Given the description of an element on the screen output the (x, y) to click on. 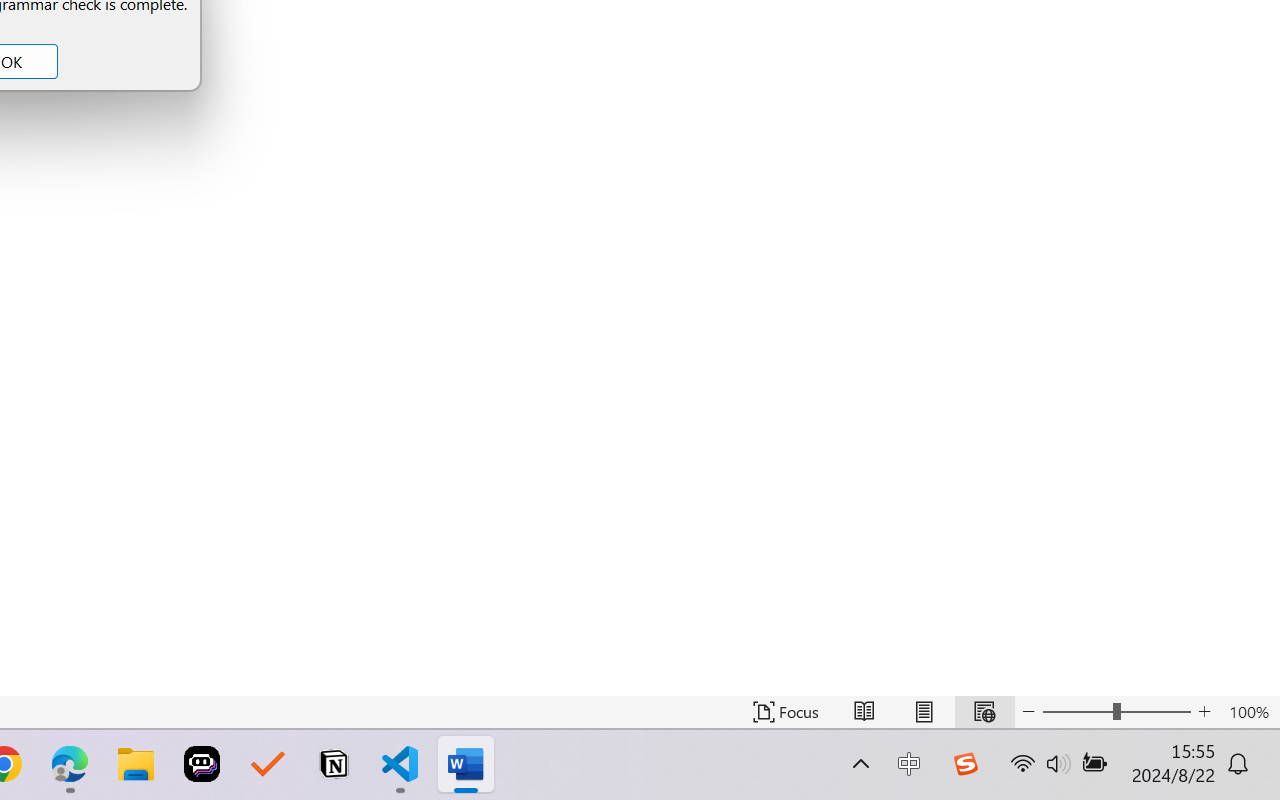
Notion (333, 764)
Poe (201, 764)
Focus  (786, 712)
